Given the description of an element on the screen output the (x, y) to click on. 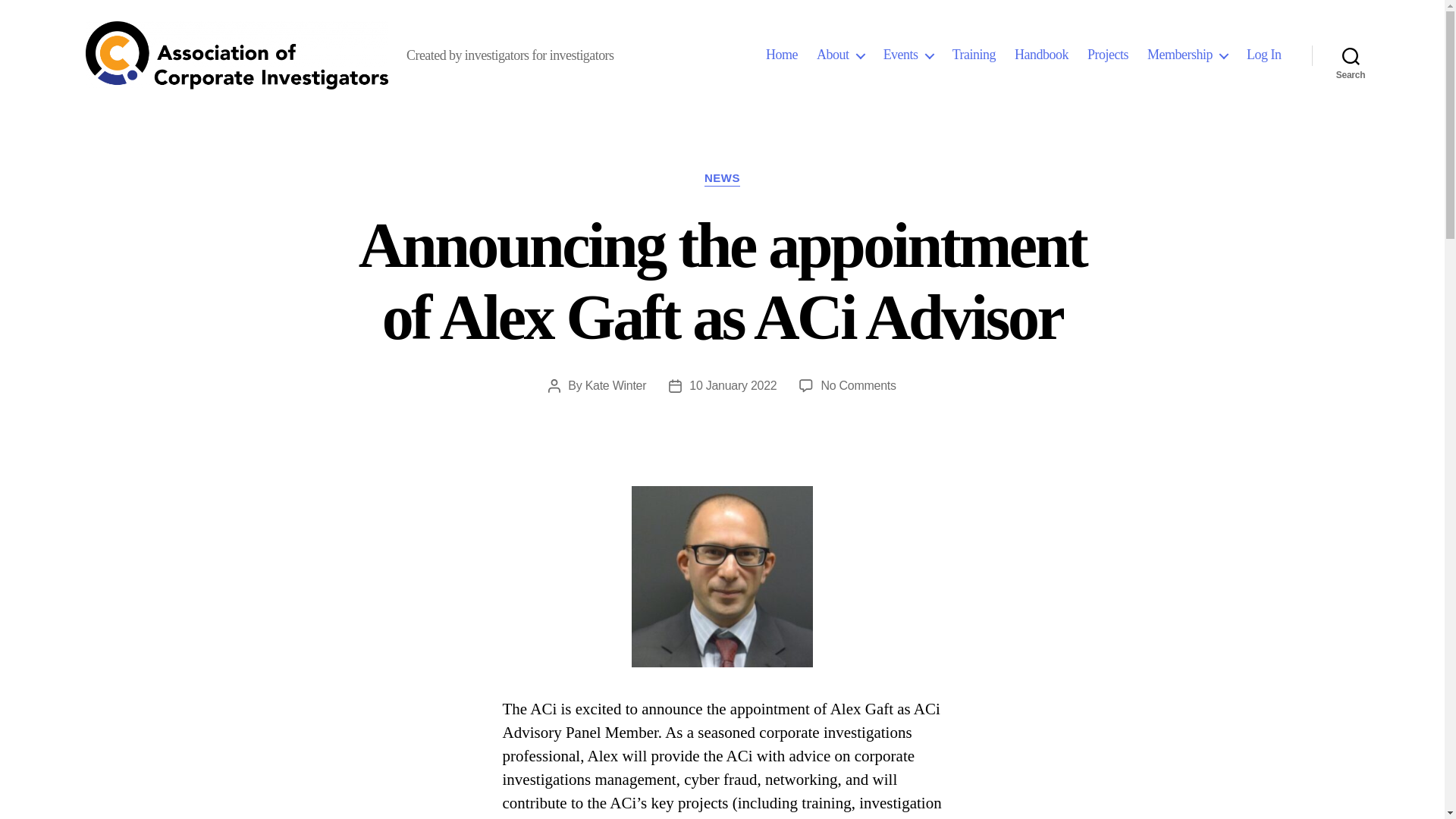
Events (908, 54)
Membership (1187, 54)
Training (973, 54)
Handbook (1041, 54)
Home (781, 54)
About (840, 54)
Projects (1107, 54)
Log In (1263, 54)
Search (1350, 55)
